Given the description of an element on the screen output the (x, y) to click on. 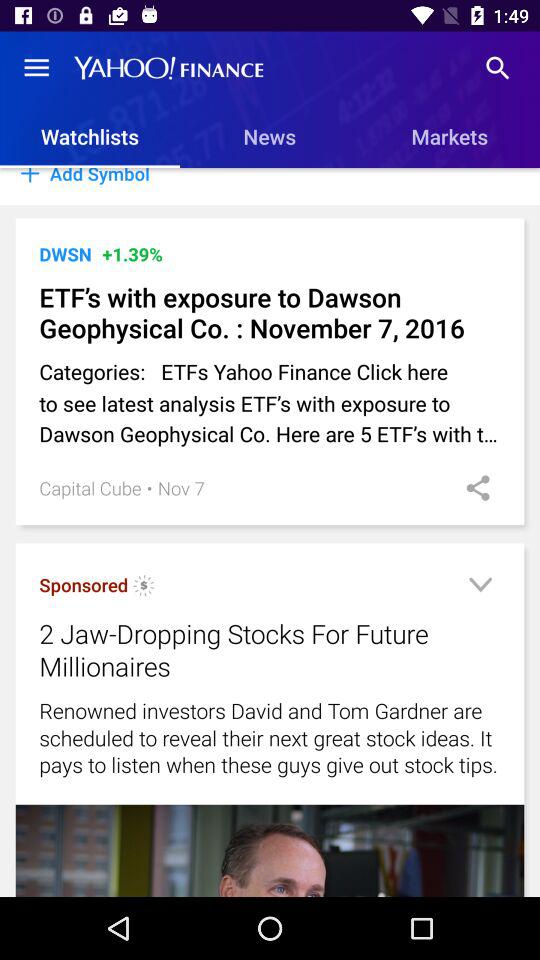
tap the icon below the etf s with item (269, 402)
